Given the description of an element on the screen output the (x, y) to click on. 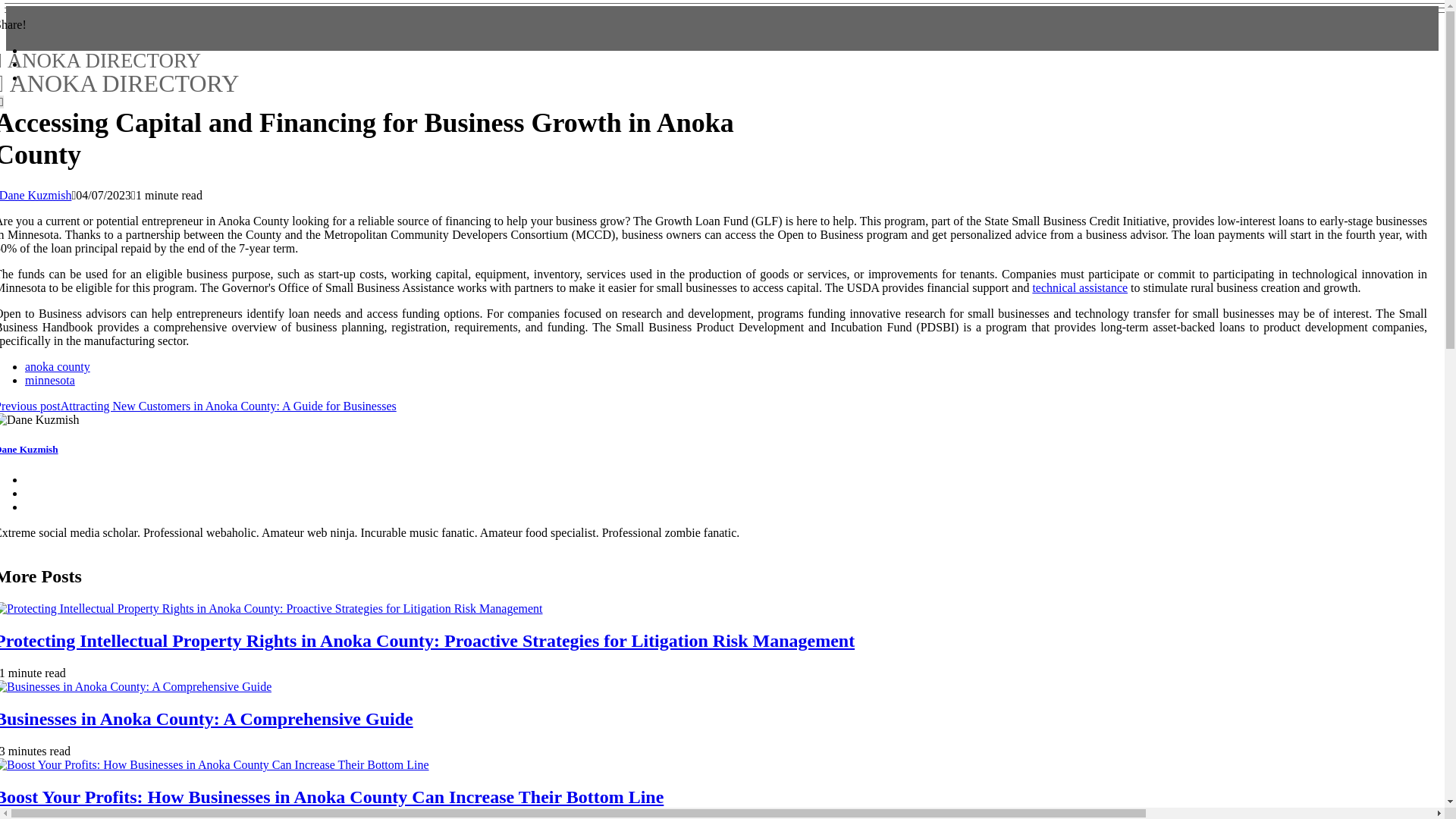
Dane Kuzmish (29, 449)
minnesota (49, 379)
Businesses in Anoka County: A Comprehensive Guide (206, 718)
Dane Kuzmish (35, 195)
technical assistance (1079, 287)
anoka county (57, 366)
Posts by Dane Kuzmish (119, 72)
